Given the description of an element on the screen output the (x, y) to click on. 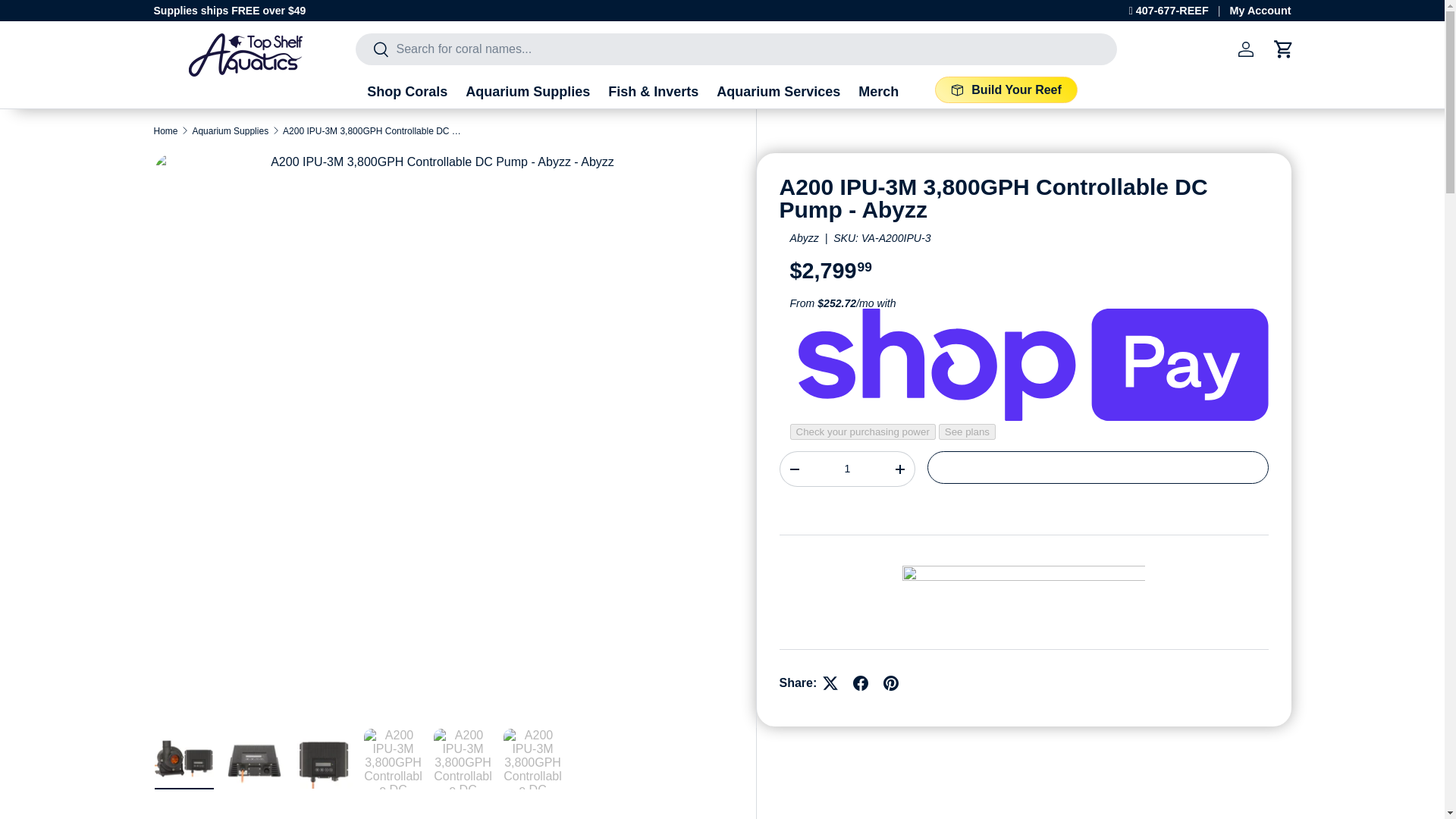
1 (846, 468)
Skip to content (68, 21)
Log in (1245, 48)
Shop Corals (406, 92)
A200 IPU-3M 3,800GPH Controllable DC Pump - Abyzz (373, 130)
Add to cart (1097, 467)
Aquarium Supplies (527, 92)
Load image 5 in gallery view (462, 759)
Abyzz (804, 237)
Aquarium Supplies (229, 130)
Build Your Reef (1005, 89)
Cart (1283, 48)
- (793, 469)
Merch (878, 92)
Load image 6 in gallery view (532, 759)
